Given the description of an element on the screen output the (x, y) to click on. 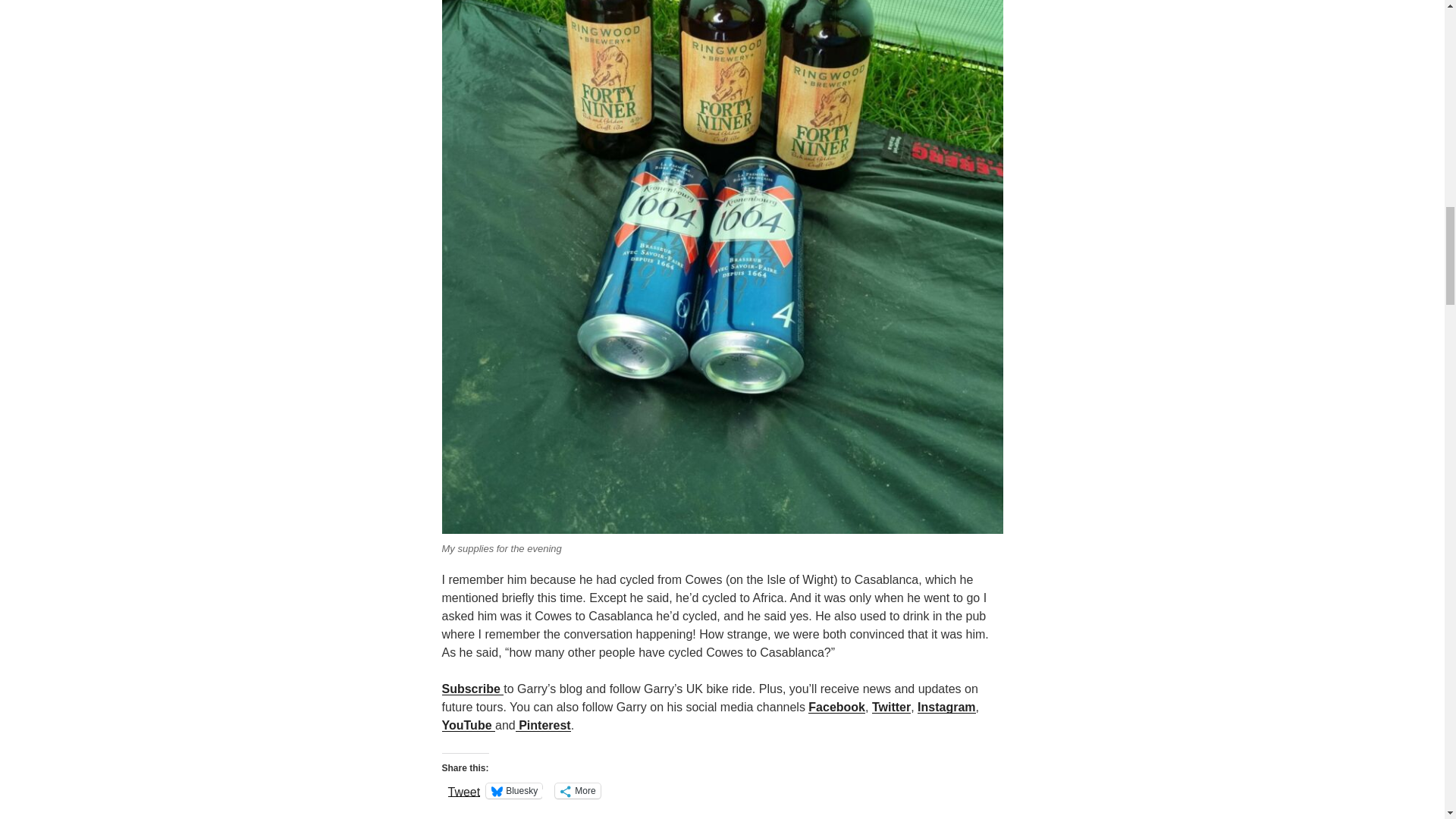
Click to share on Bluesky (513, 790)
Facebook (836, 707)
YouTube (468, 725)
Opens in a new window (891, 707)
Twitter (891, 707)
Subscribe to Garry's blog (472, 688)
Instagram (946, 707)
Opens in a new window (542, 725)
Tweet (463, 789)
Opens in a new window (946, 707)
Pinterest (542, 725)
Opens in a new window (836, 707)
Subscribe (472, 688)
Bluesky (513, 790)
Opens in a new window (468, 725)
